Given the description of an element on the screen output the (x, y) to click on. 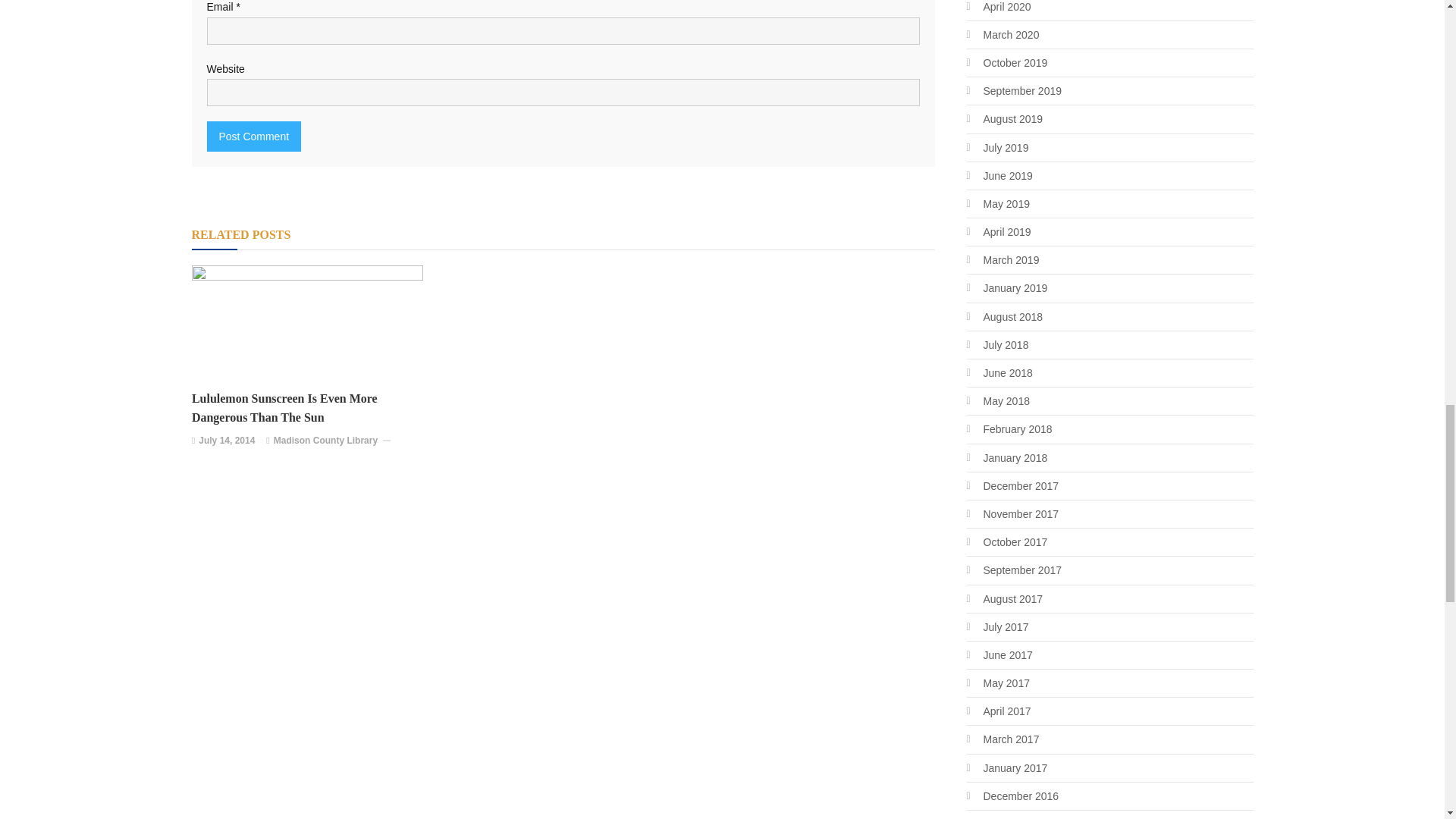
Madison County Library (325, 441)
Post Comment (253, 136)
Post Comment (253, 136)
Lululemon Sunscreen Is Even More Dangerous Than The Sun (310, 407)
July 14, 2014 (226, 441)
